Given the description of an element on the screen output the (x, y) to click on. 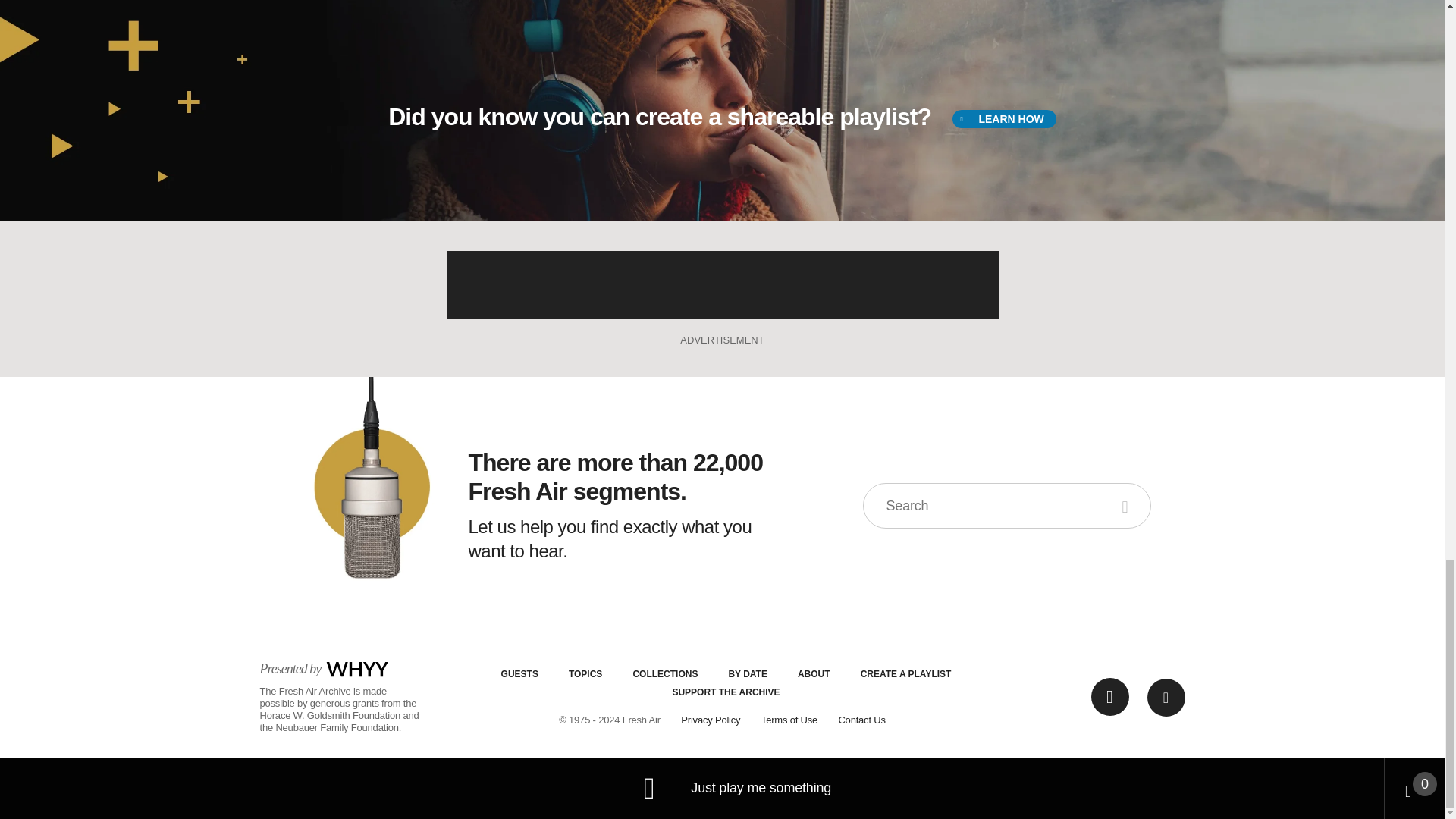
Search (1127, 505)
3rd party ad content (721, 284)
